Given the description of an element on the screen output the (x, y) to click on. 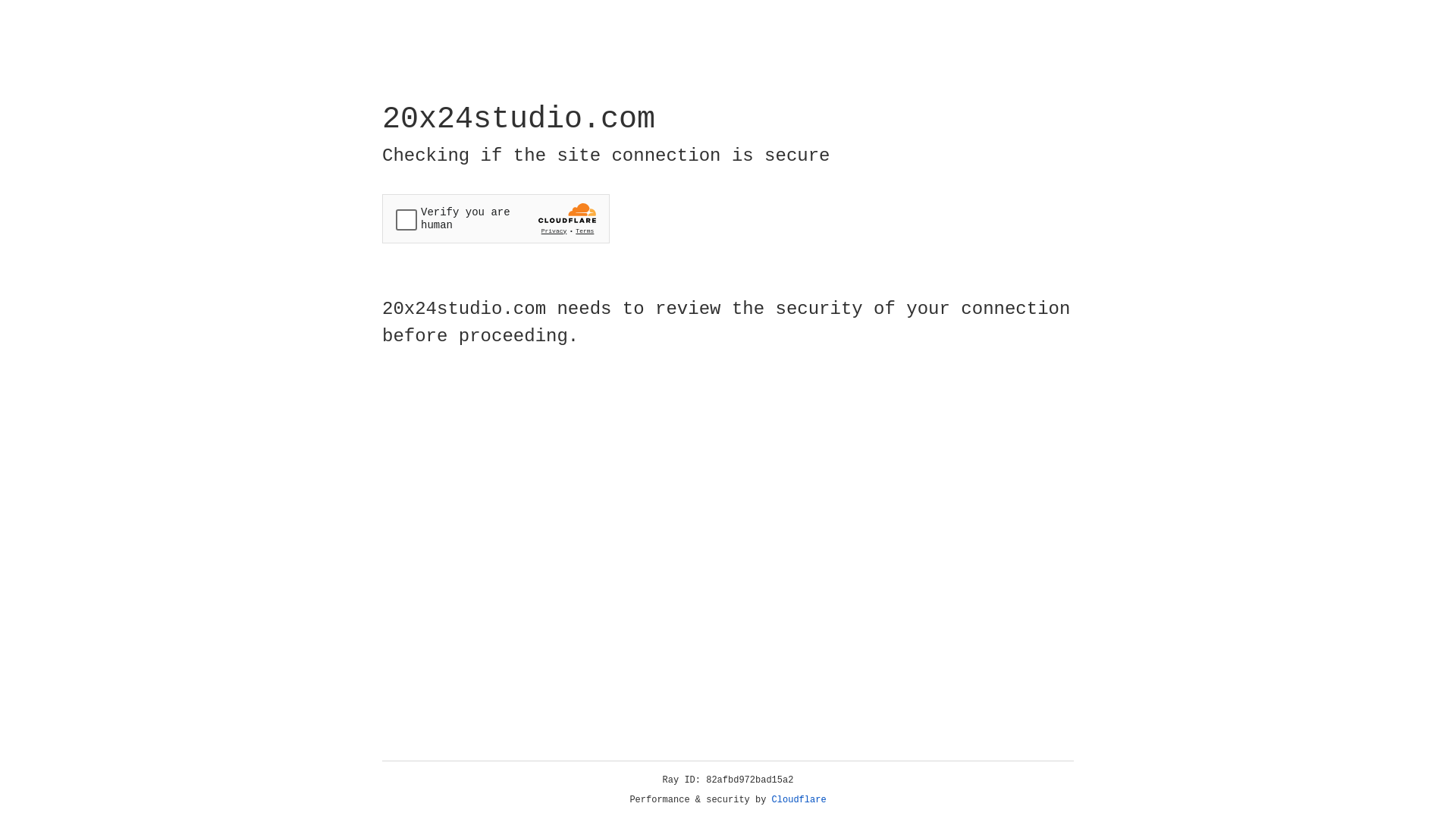
Widget containing a Cloudflare security challenge Element type: hover (495, 218)
Cloudflare Element type: text (798, 799)
